Given the description of an element on the screen output the (x, y) to click on. 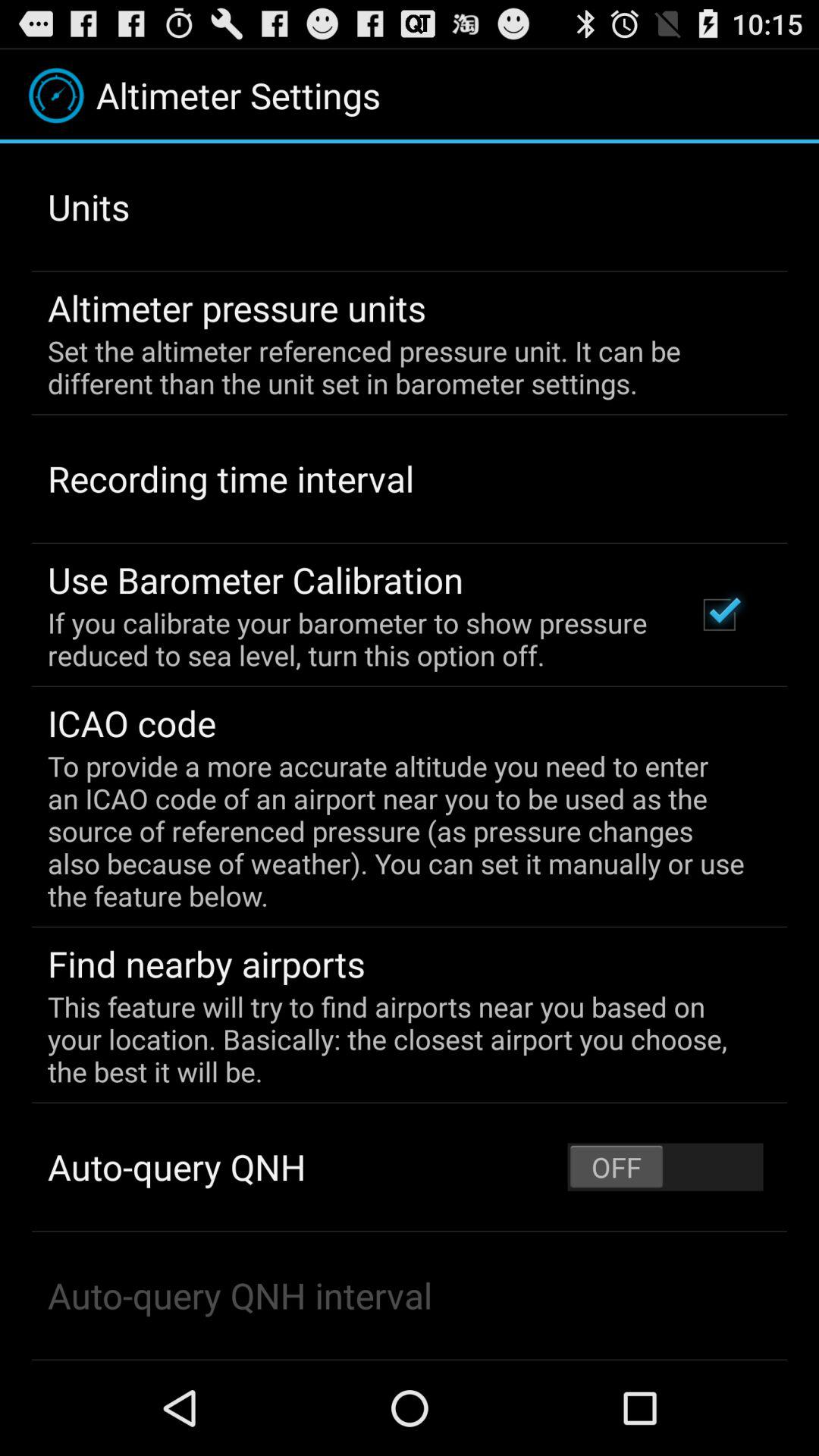
turn on item below the find nearby airports item (399, 1038)
